Given the description of an element on the screen output the (x, y) to click on. 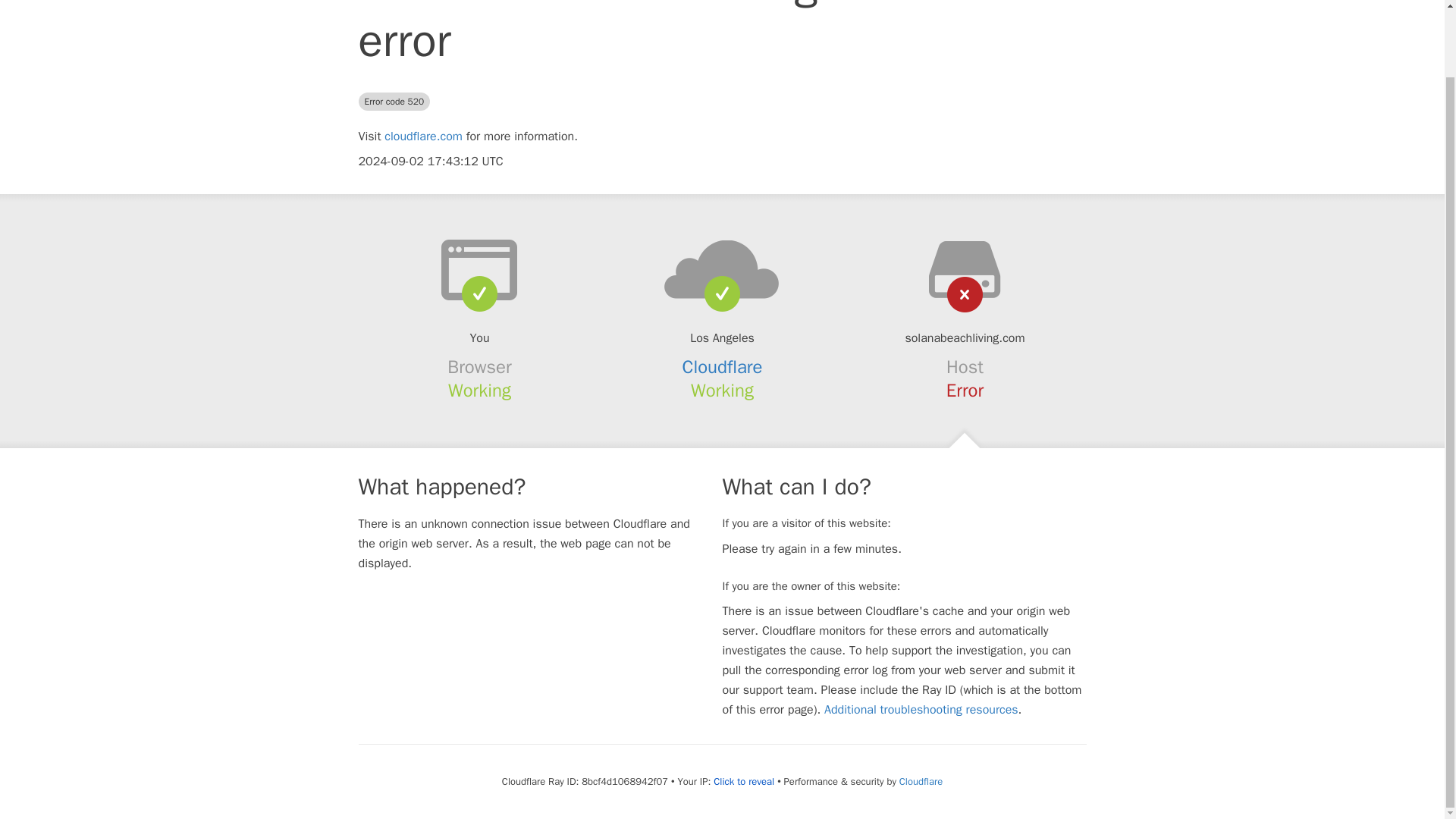
cloudflare.com (423, 136)
Click to reveal (743, 781)
Cloudflare (722, 366)
Cloudflare (920, 780)
Additional troubleshooting resources (920, 709)
